Given the description of an element on the screen output the (x, y) to click on. 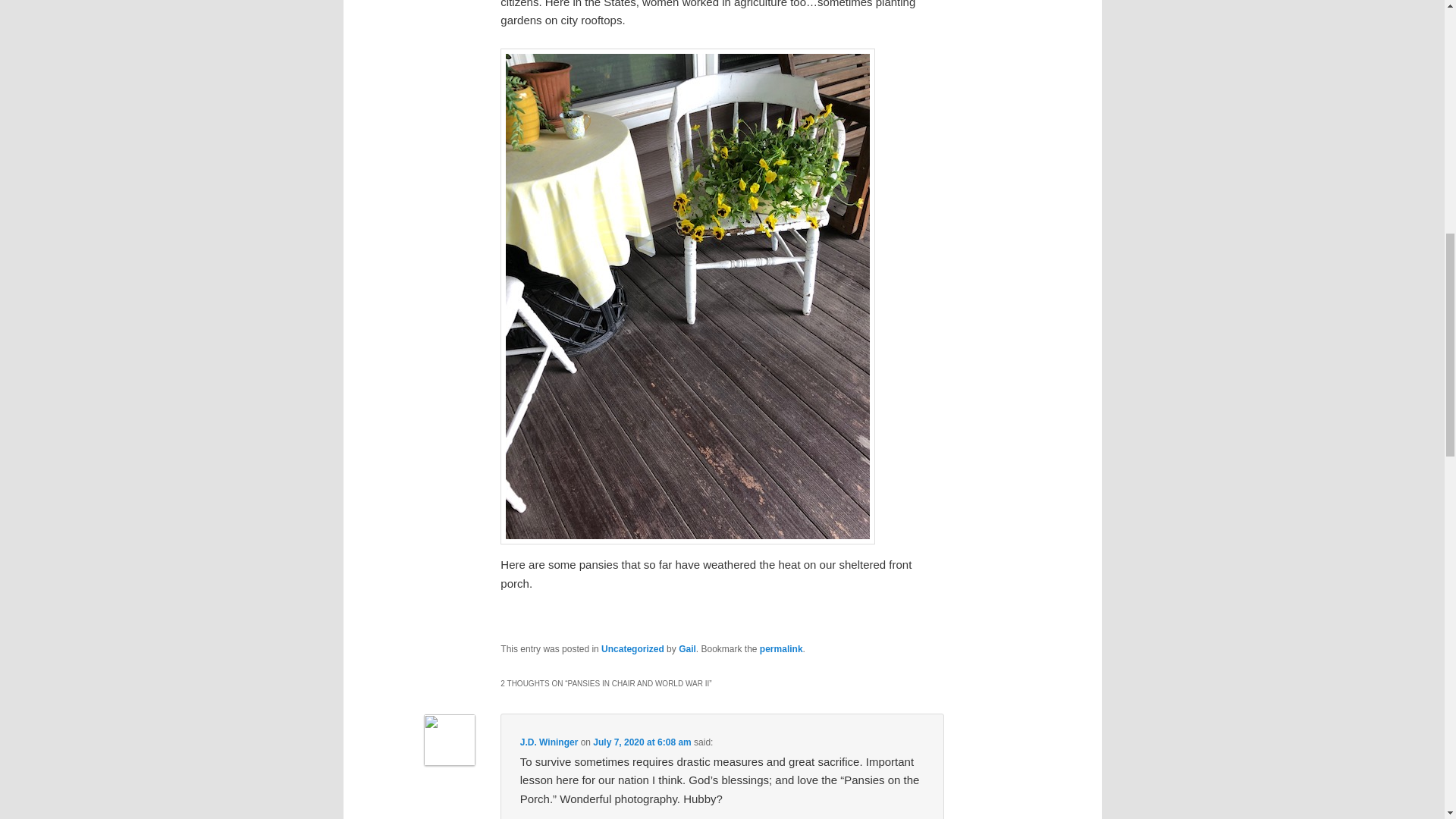
Uncategorized (632, 648)
permalink (781, 648)
Gail (686, 648)
Permalink to Pansies In Chair And World War II (781, 648)
J.D. Wininger (548, 742)
July 7, 2020 at 6:08 am (641, 742)
